Given the description of an element on the screen output the (x, y) to click on. 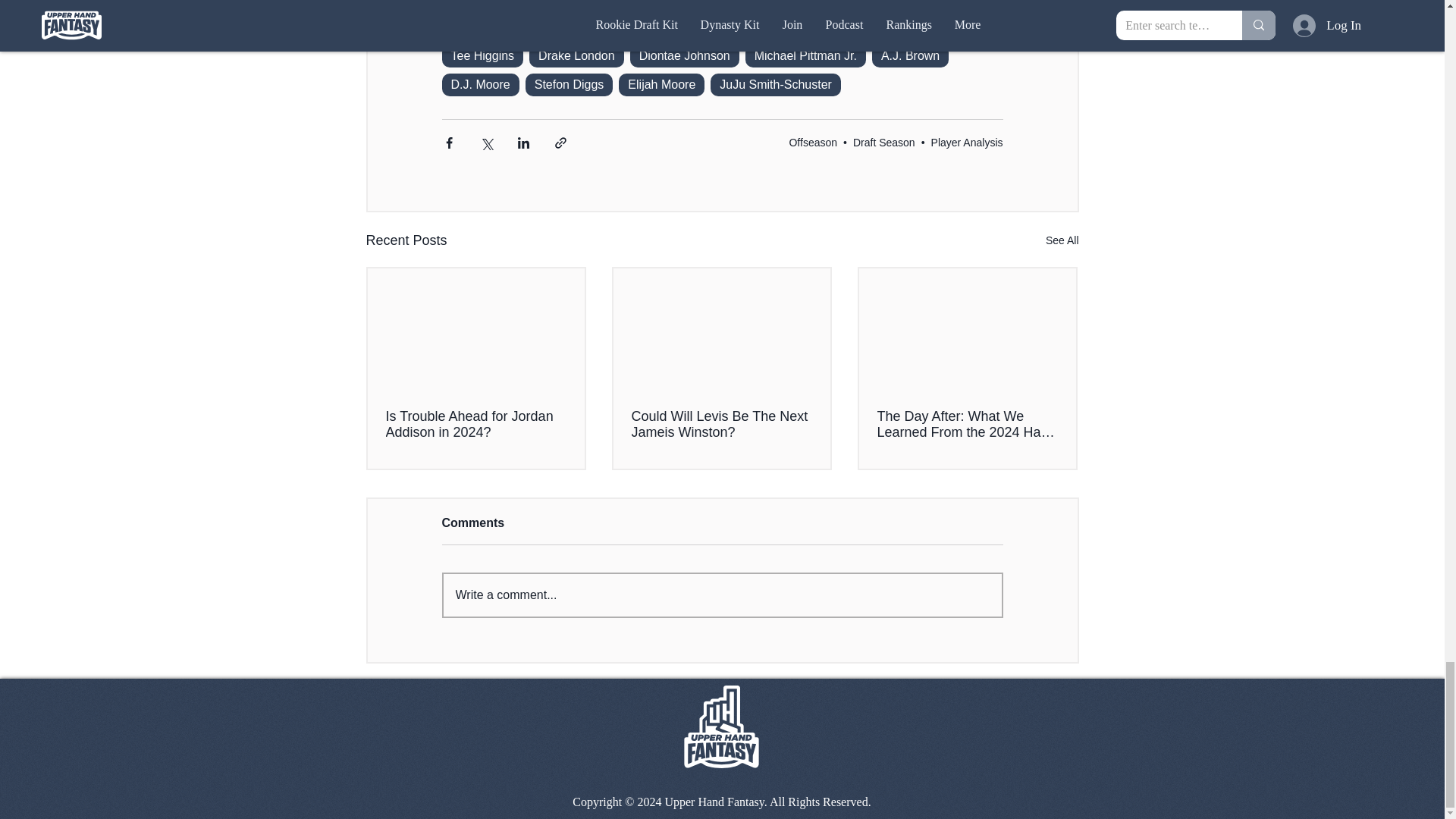
Tee Higgins (481, 56)
A.J. Brown (910, 56)
Elijah Moore (661, 84)
Drake London (576, 56)
Michael Pittman Jr. (805, 56)
D.J. Moore (479, 84)
Stefon Diggs (568, 84)
Diontae Johnson (684, 56)
